Given the description of an element on the screen output the (x, y) to click on. 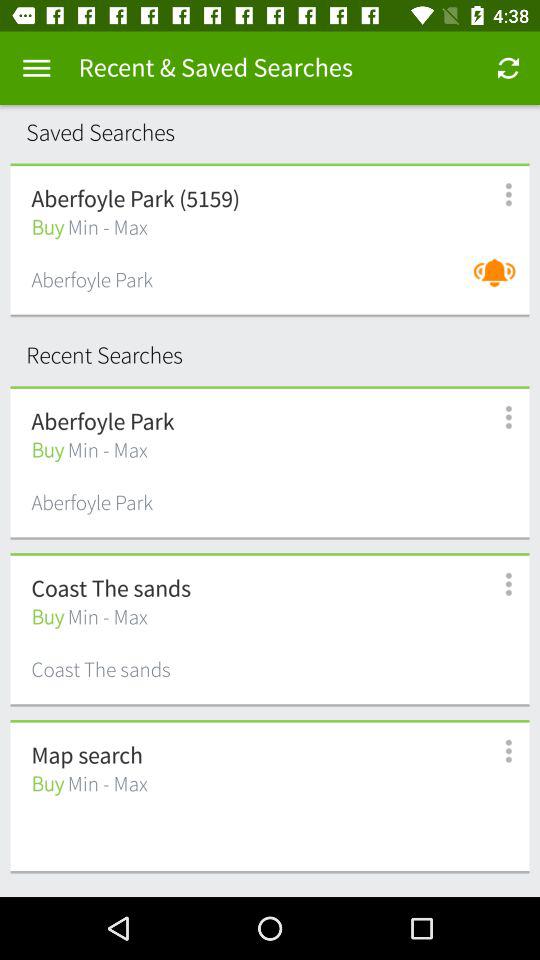
get notifications about property (499, 282)
